Given the description of an element on the screen output the (x, y) to click on. 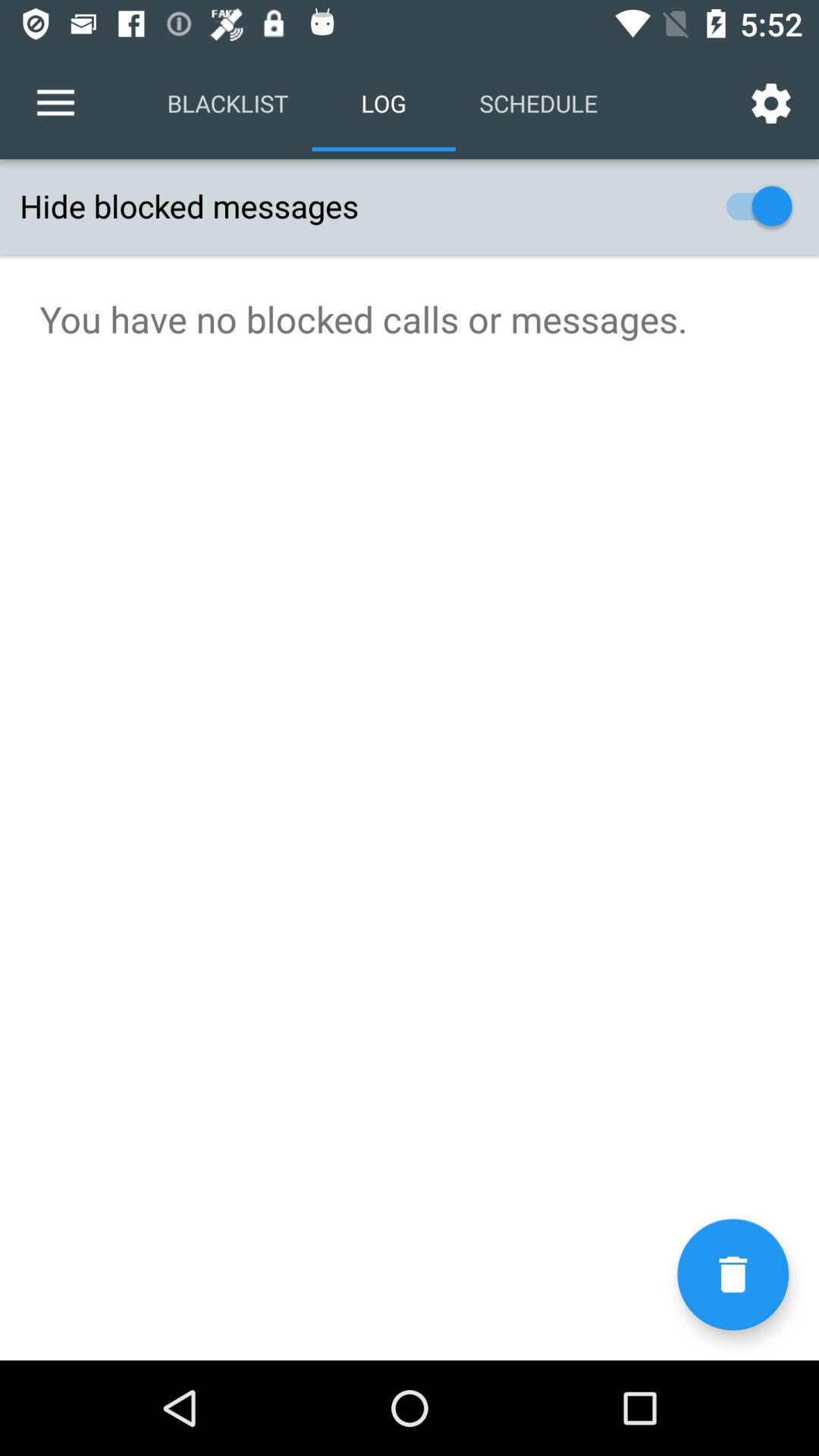
choose item to the left of blacklist item (55, 103)
